Given the description of an element on the screen output the (x, y) to click on. 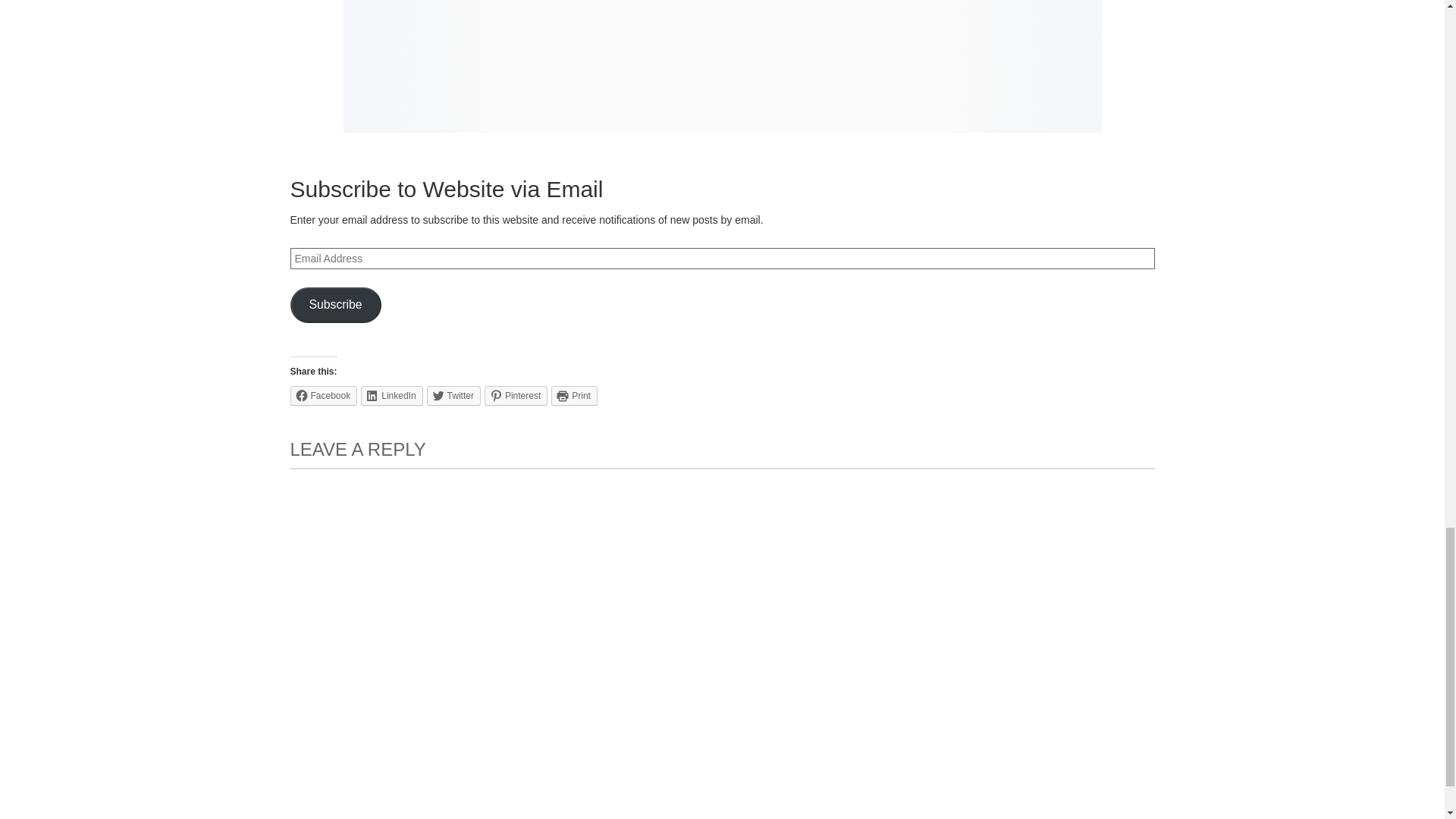
LinkedIn (391, 395)
Facebook (322, 395)
Click to share on Twitter (453, 395)
Click to print (573, 395)
Click to share on Pinterest (515, 395)
Click to share on LinkedIn (391, 395)
Click to share on Facebook (322, 395)
Twitter (453, 395)
Pinterest (515, 395)
Print (573, 395)
Subscribe (334, 304)
